Given the description of an element on the screen output the (x, y) to click on. 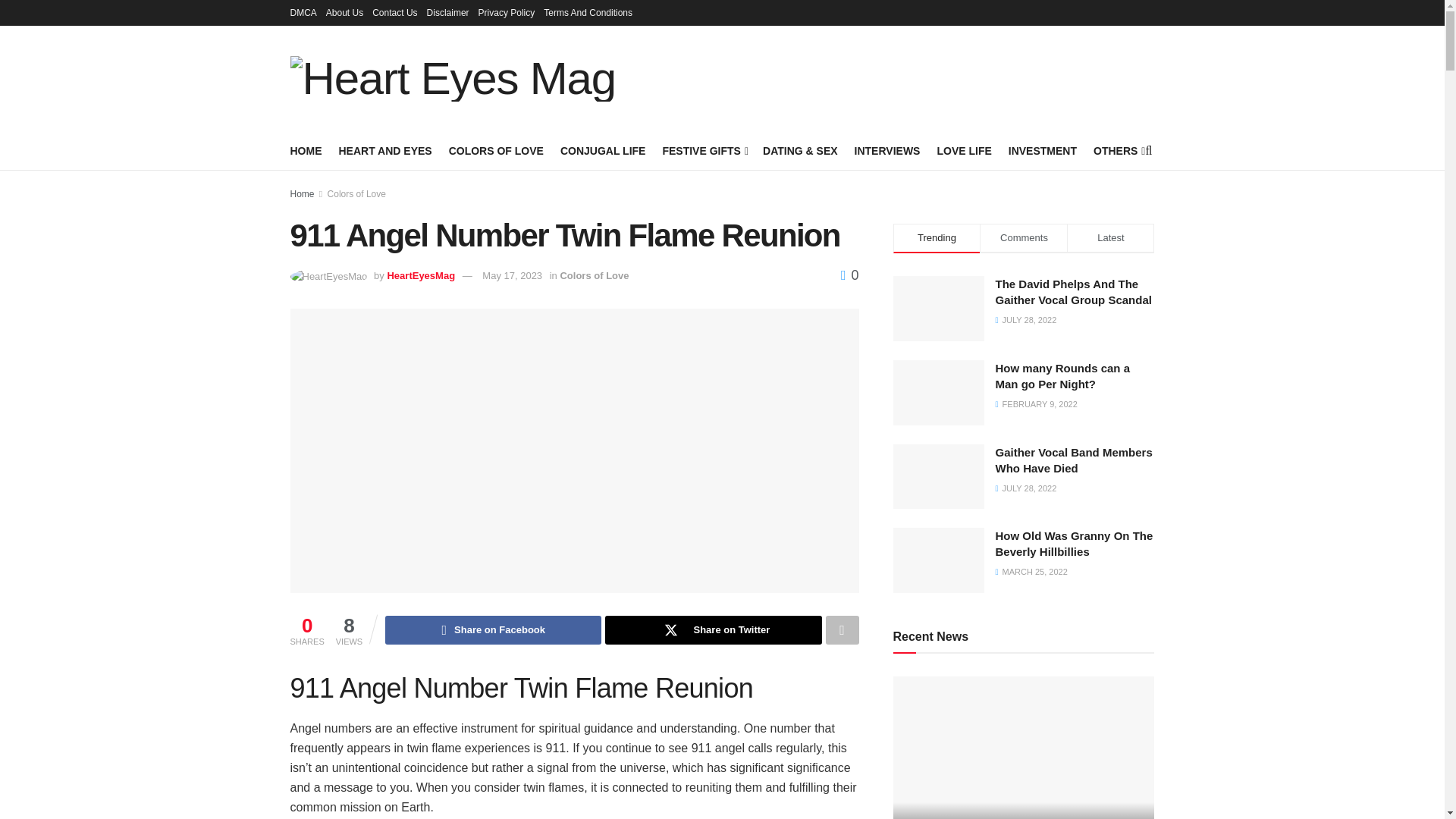
INVESTMENT (1043, 150)
DMCA (302, 12)
LOVE LIFE (963, 150)
Terms And Conditions (587, 12)
FESTIVE GIFTS (703, 150)
HOME (305, 150)
COLORS OF LOVE (495, 150)
About Us (344, 12)
Disclaimer (447, 12)
Privacy Policy (507, 12)
